Given the description of an element on the screen output the (x, y) to click on. 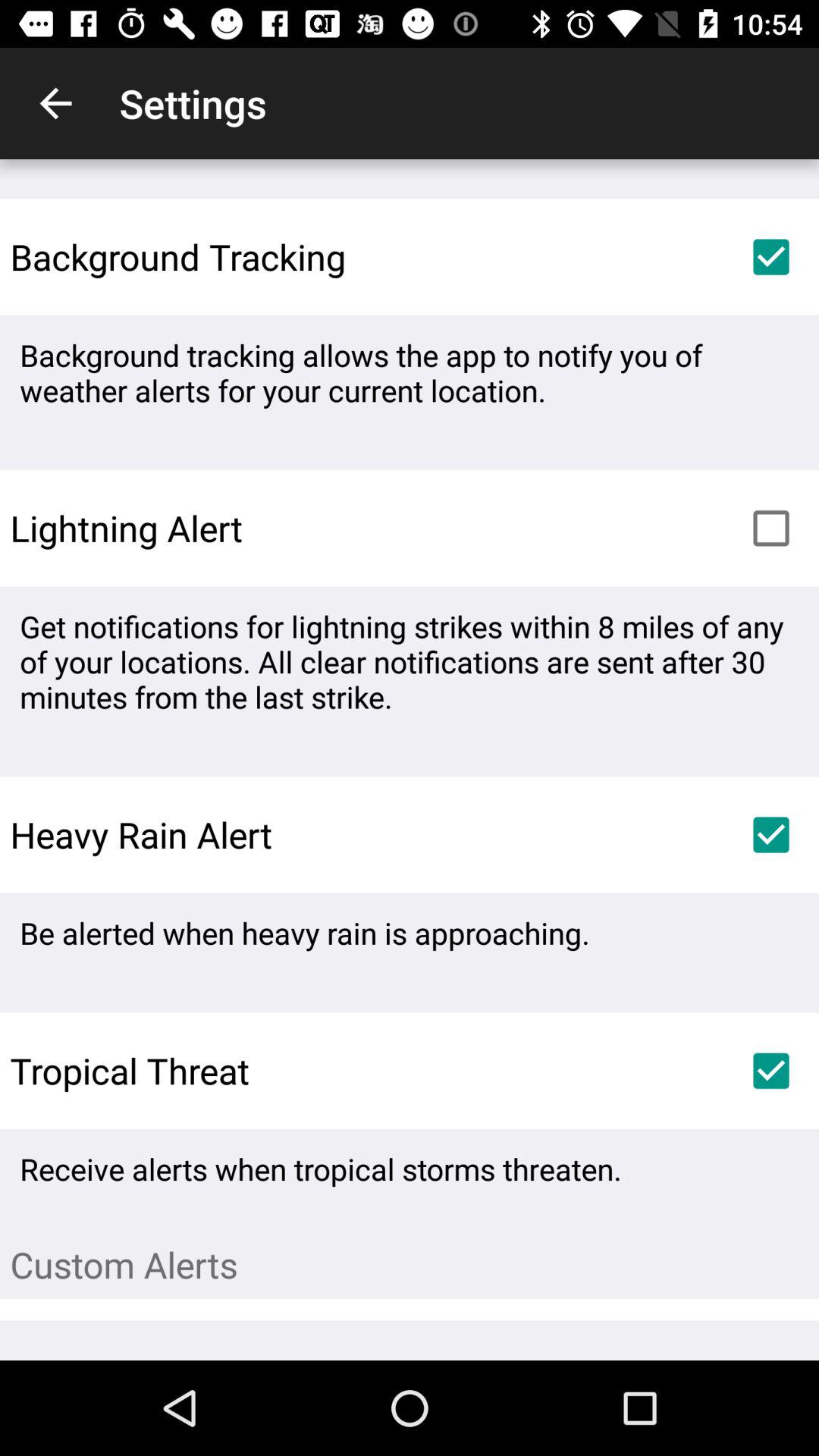
tick the box (771, 528)
